Given the description of an element on the screen output the (x, y) to click on. 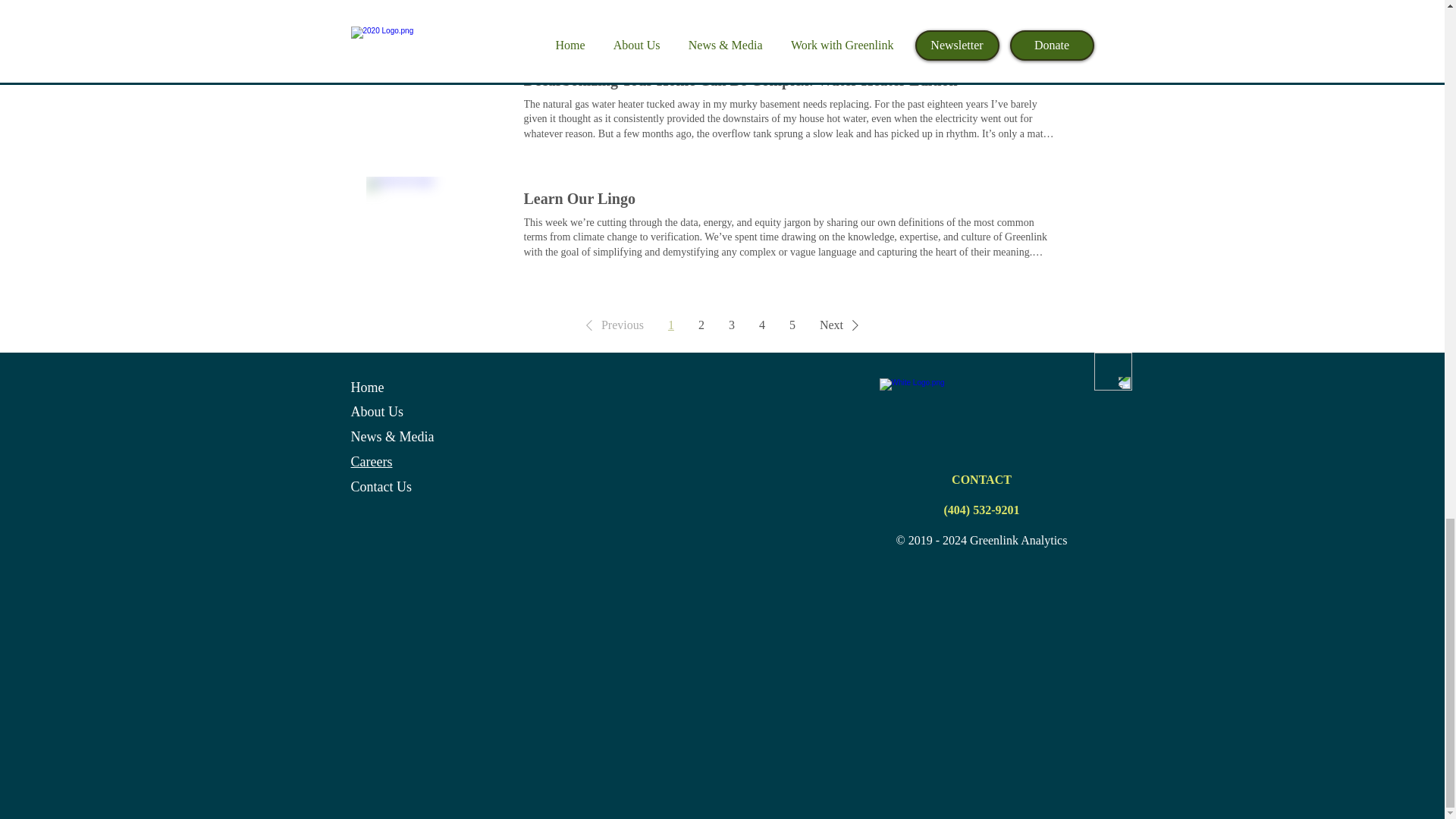
2 (700, 324)
Previous (611, 325)
Learn Our Lingo (578, 198)
Decarbonizing Your Home Can Be Complex: Water Heater Edition (739, 79)
